Given the description of an element on the screen output the (x, y) to click on. 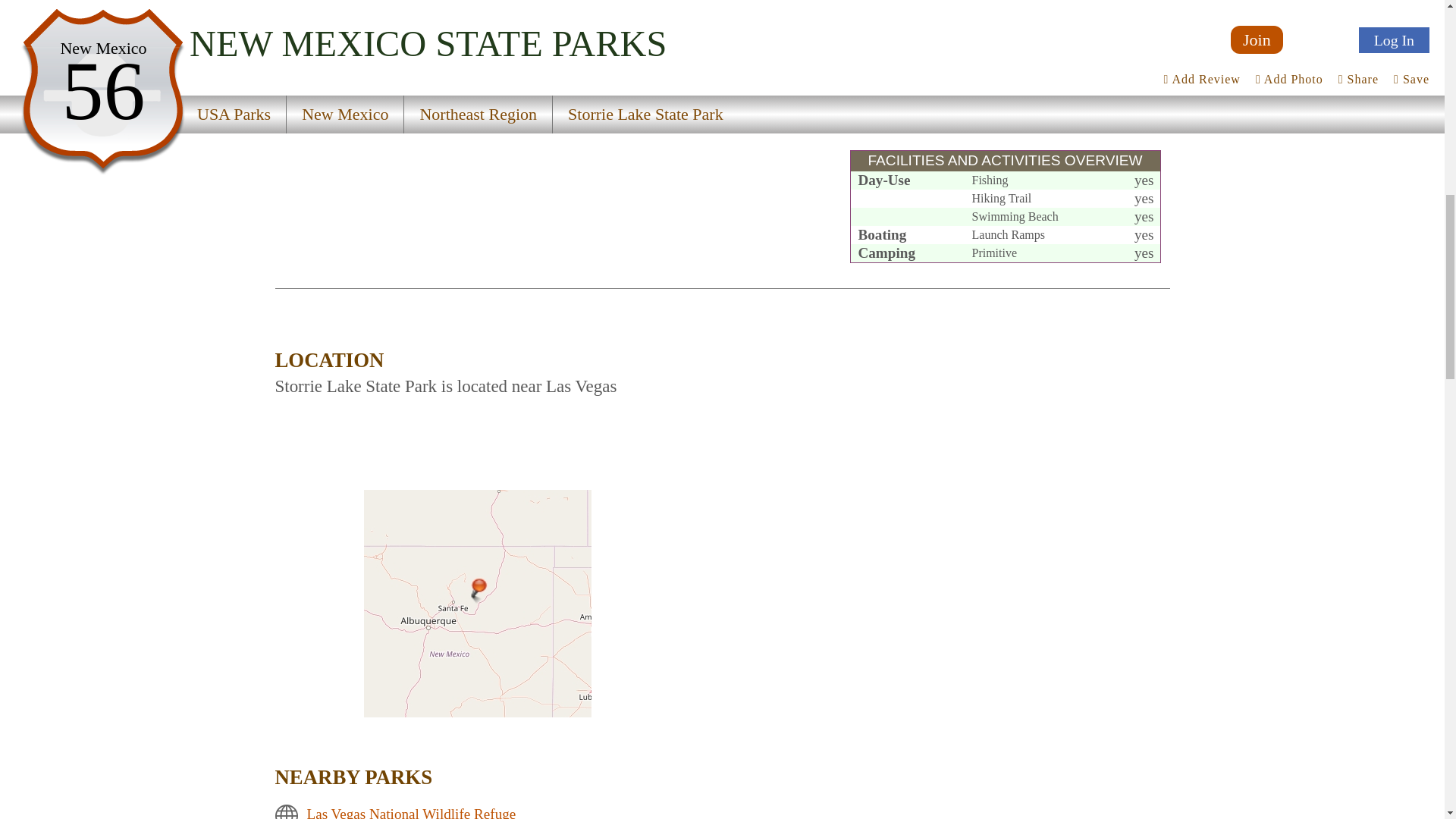
Las Vegas National Wildlife Refuge (410, 812)
505-425-7278 (1045, 58)
877-664-7787 (1066, 73)
